Given the description of an element on the screen output the (x, y) to click on. 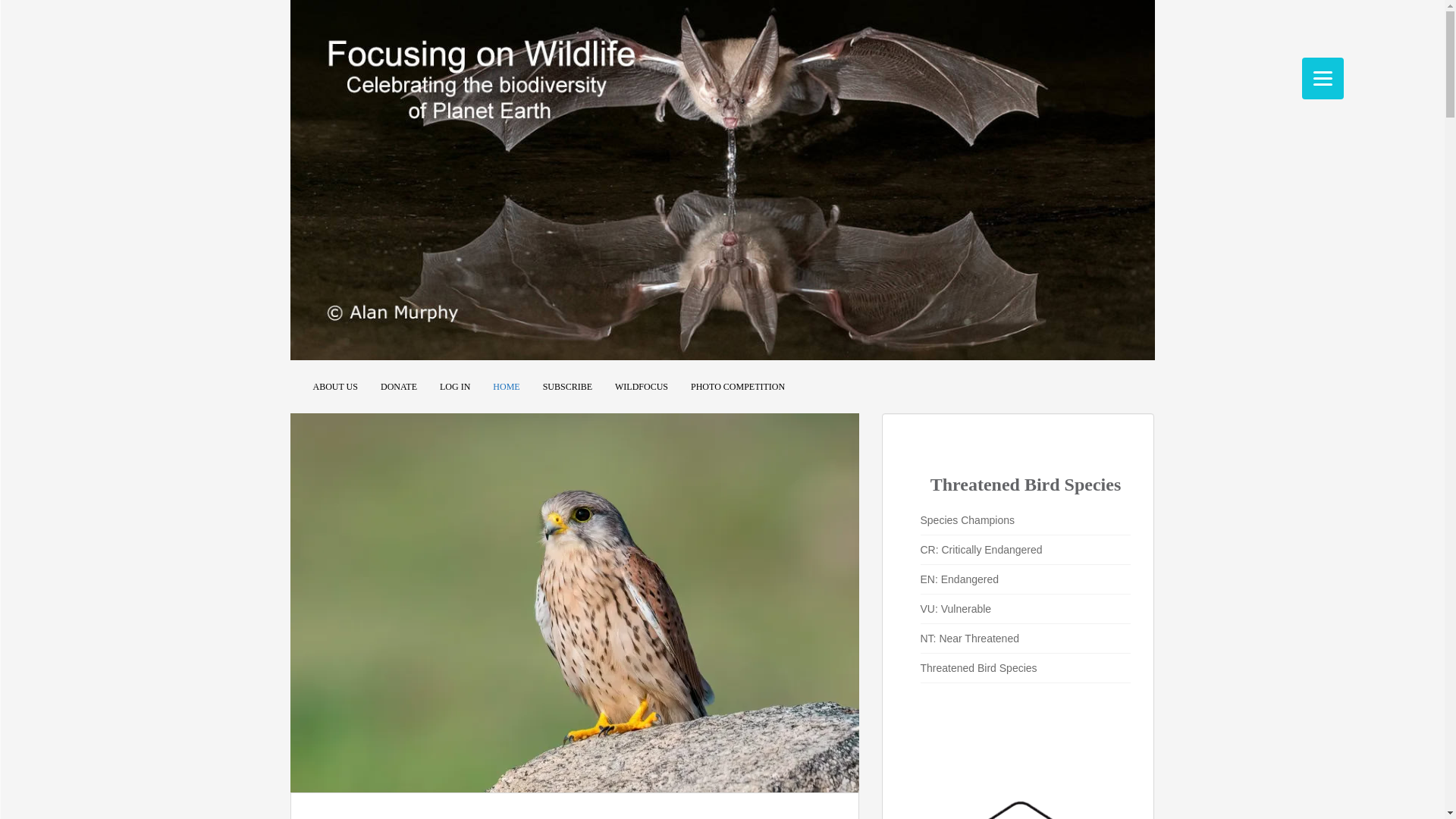
WILDFOCUS (641, 386)
LOG IN (454, 386)
DONATE (398, 386)
PHOTO COMPETITION (737, 386)
SUBSCRIBE (567, 386)
ABOUT US (334, 386)
